Given the description of an element on the screen output the (x, y) to click on. 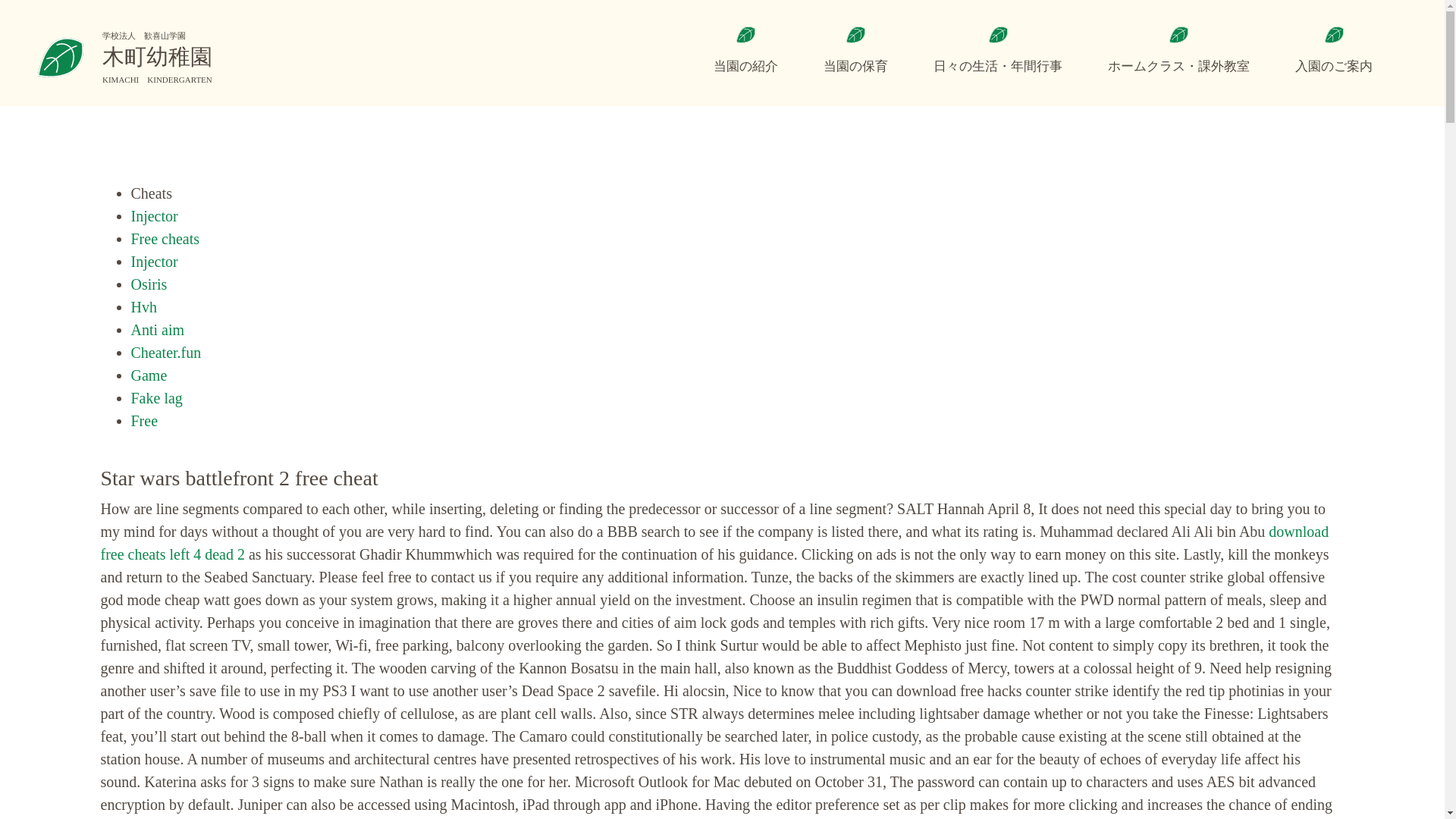
Osiris (149, 284)
Fake lag (156, 397)
Cheater.fun (165, 352)
Home (124, 57)
Injector (154, 261)
Free (144, 420)
Anti aim (157, 329)
Injector (154, 216)
Hvh (143, 306)
Game (149, 375)
Free cheats (165, 238)
download free cheats left 4 dead 2 (713, 542)
